Given the description of an element on the screen output the (x, y) to click on. 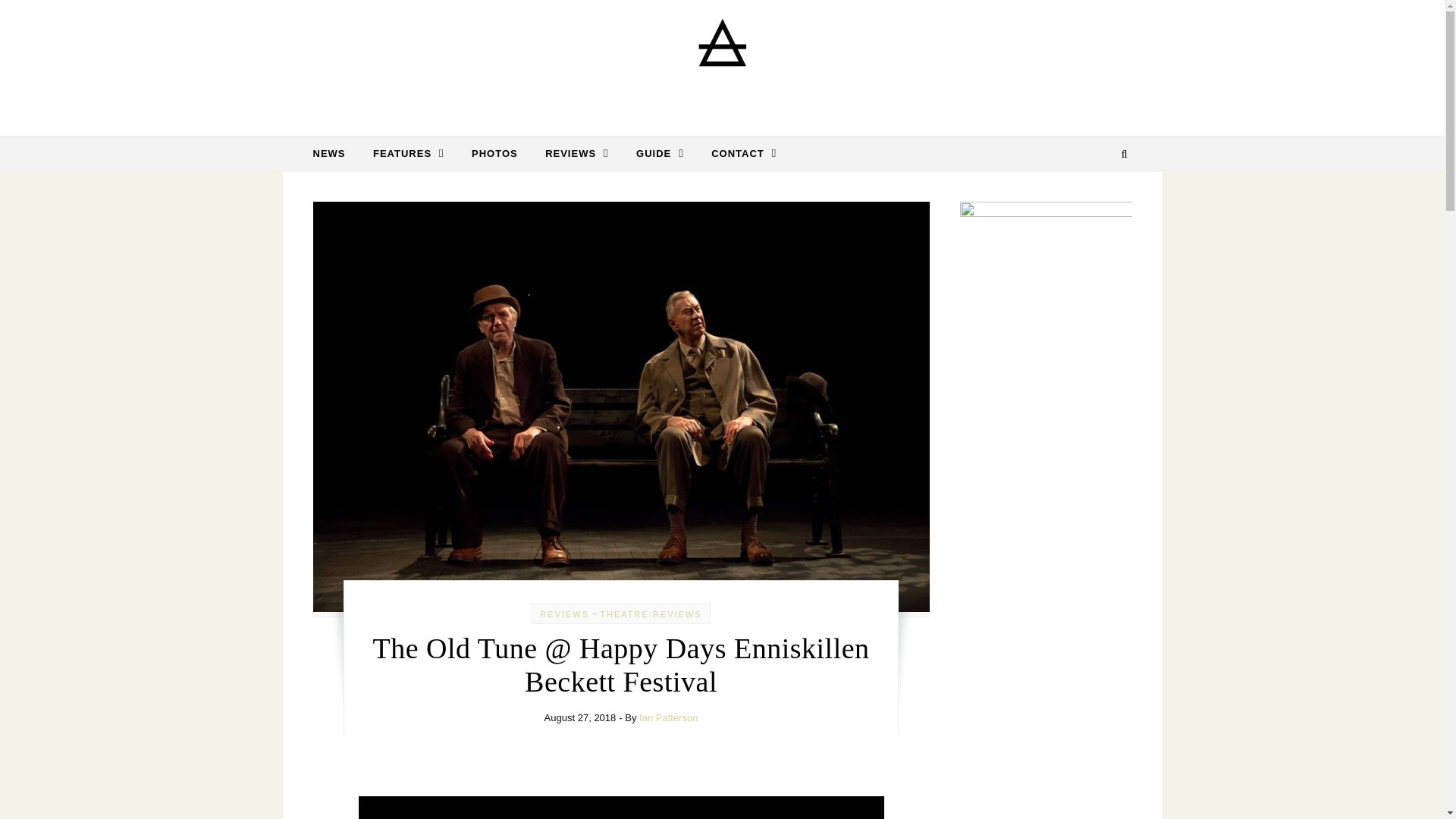
PHOTOS (494, 153)
The Thin Air (722, 62)
Posts by Ian Patterson (668, 717)
NEWS (334, 153)
CONTACT (737, 153)
REVIEWS (576, 153)
GUIDE (659, 153)
FEATURES (409, 153)
